Given the description of an element on the screen output the (x, y) to click on. 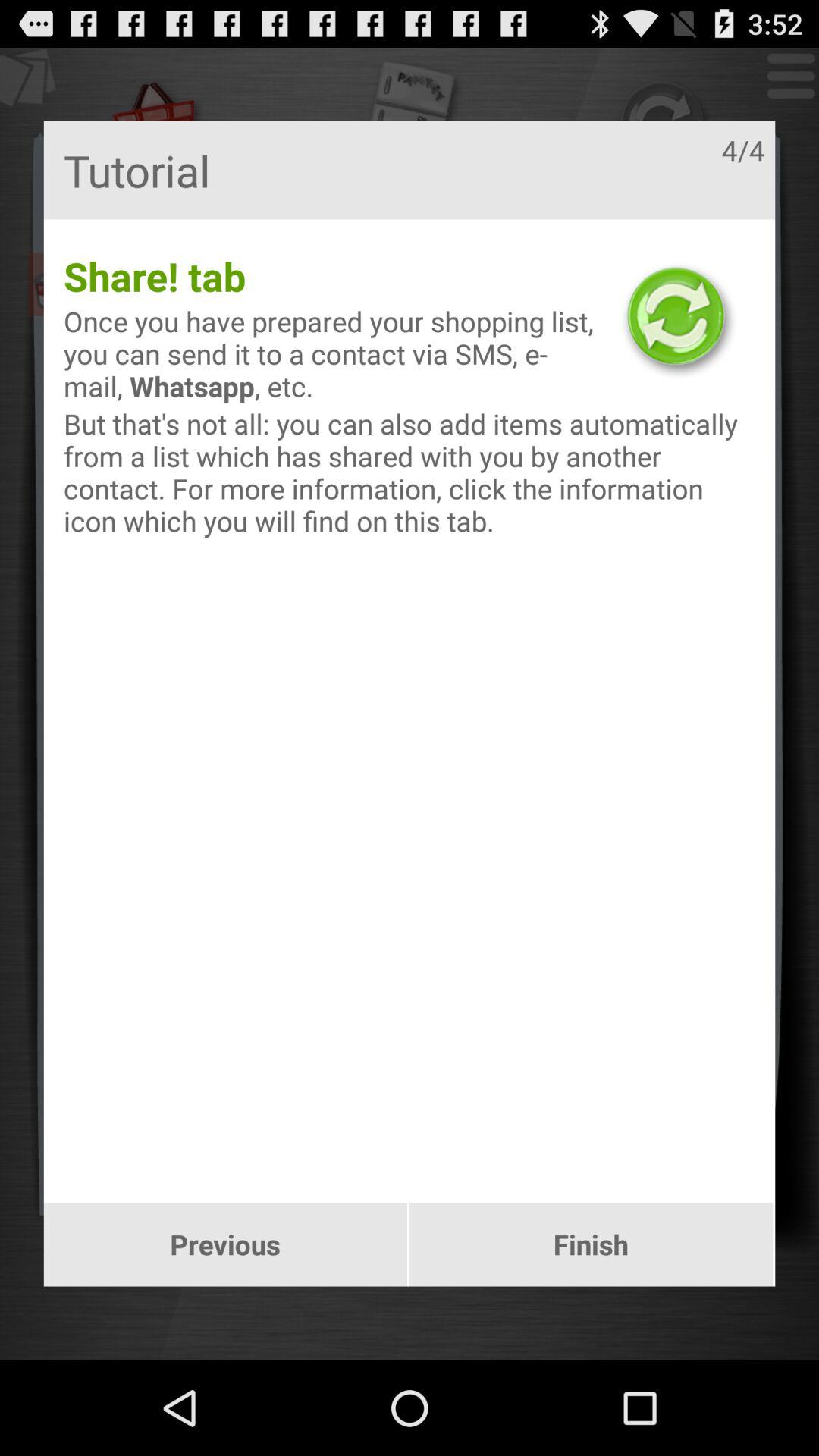
choose the button next to the previous button (590, 1244)
